Given the description of an element on the screen output the (x, y) to click on. 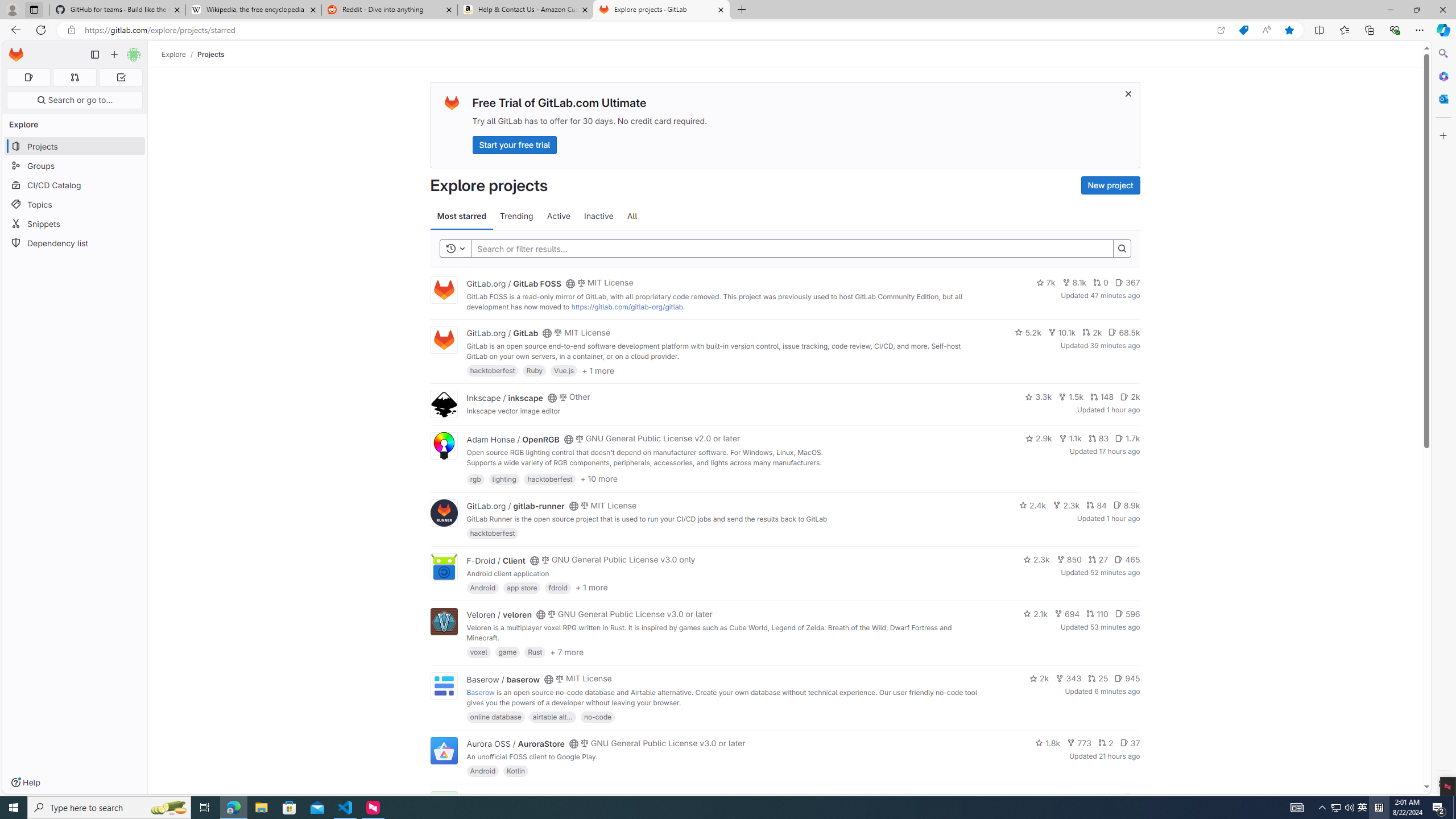
Class: s16 gl-icon gl-button-icon  (1127, 93)
2k (1039, 678)
lighting (504, 478)
1.7k (1127, 438)
GitLab.org / gitlab-runner (514, 506)
2.4k (1032, 504)
CI/CD Catalog (74, 185)
Open in app (1220, 29)
148 (1101, 396)
All (632, 216)
110 (1097, 613)
143 (1085, 797)
773 (1079, 742)
